Given the description of an element on the screen output the (x, y) to click on. 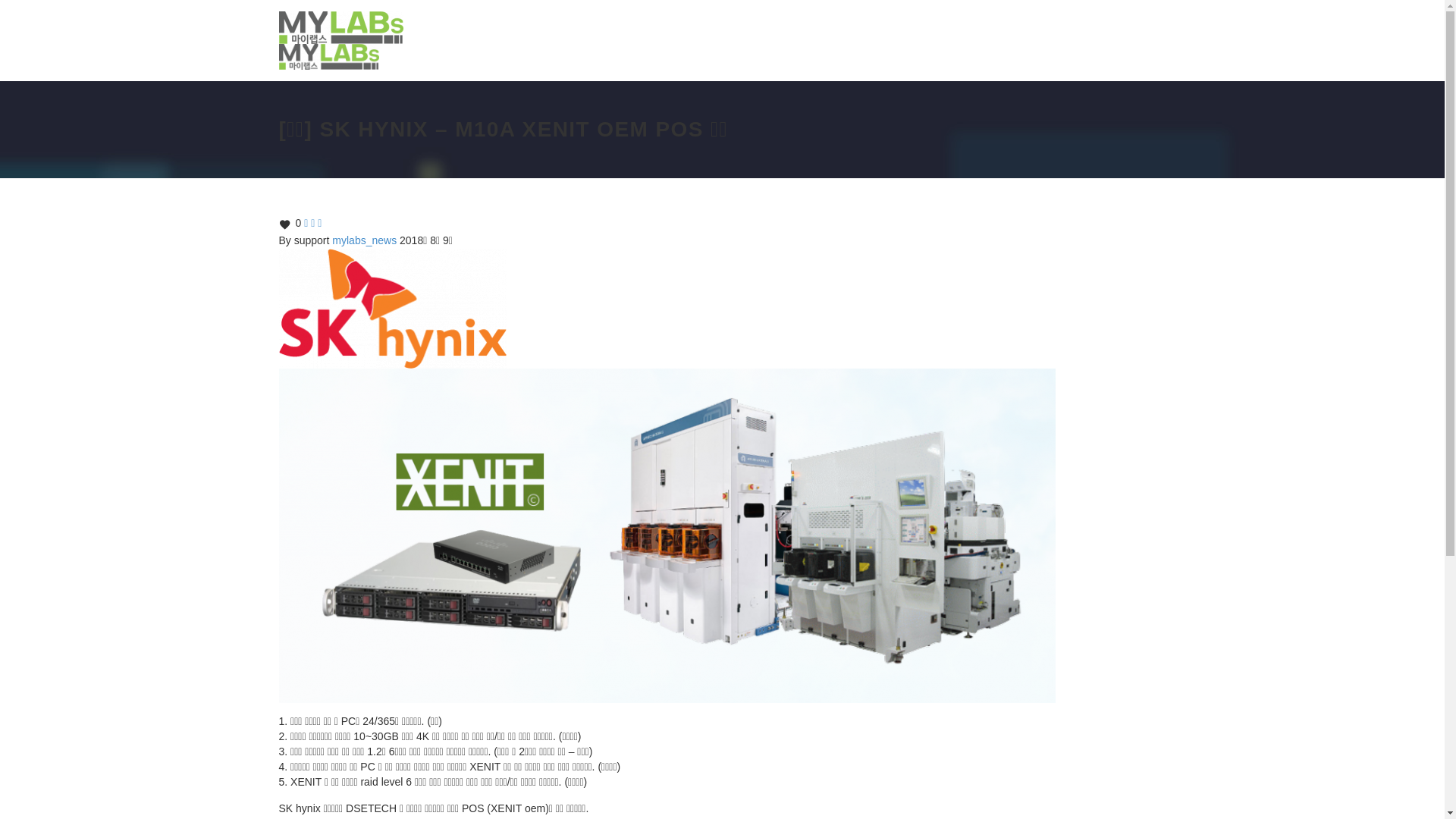
mylabs_news Element type: text (364, 240)
0 Element type: text (290, 224)
